Given the description of an element on the screen output the (x, y) to click on. 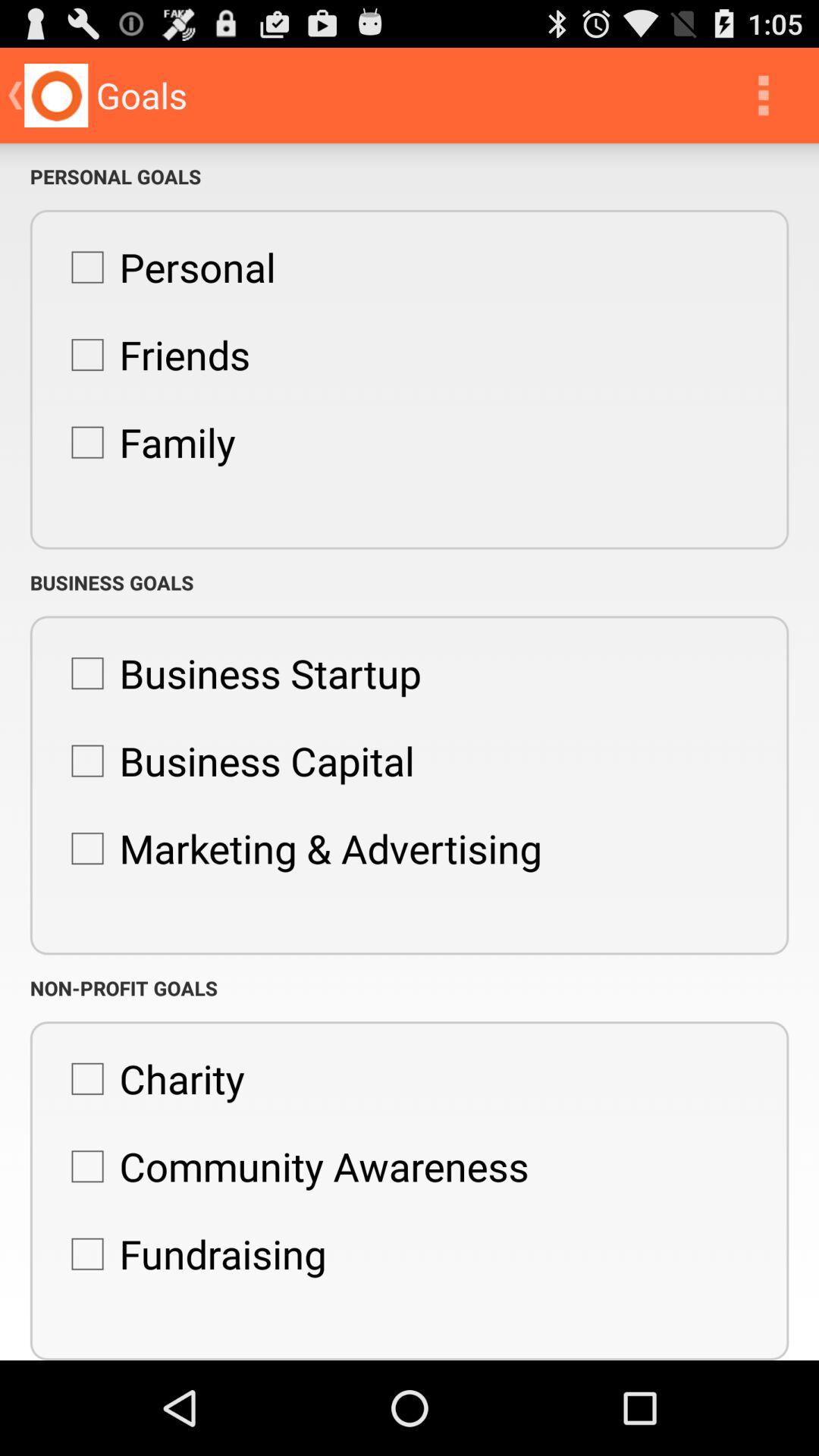
turn on business startup item (238, 673)
